Given the description of an element on the screen output the (x, y) to click on. 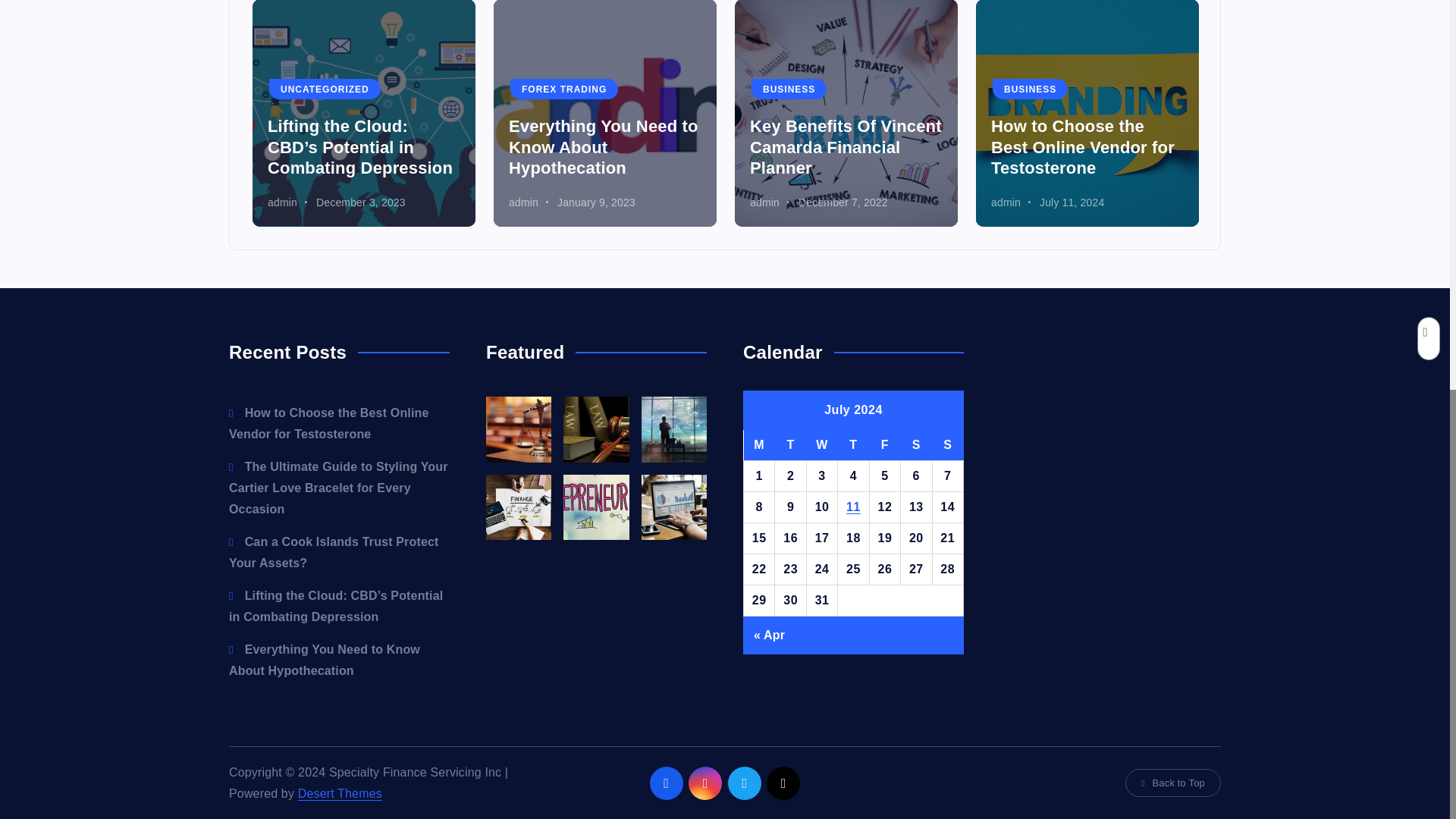
Wednesday (821, 445)
Saturday (916, 445)
Friday (884, 445)
Monday (758, 445)
Tuesday (790, 445)
Thursday (853, 445)
